Given the description of an element on the screen output the (x, y) to click on. 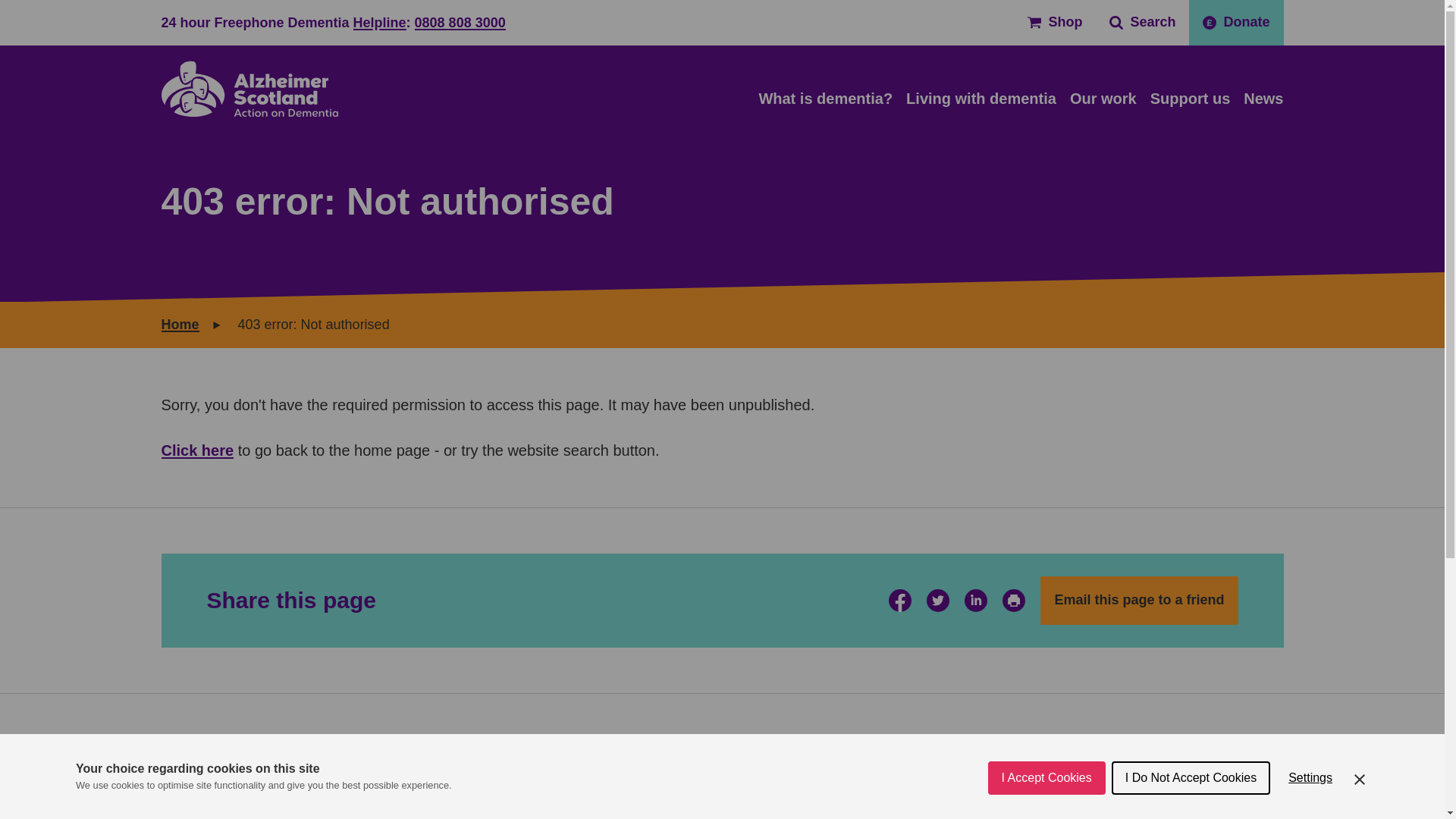
0808 808 3000 (459, 22)
Opens in new window (1112, 750)
I Do Not Accept Cookies (1190, 815)
Living with dementia (981, 98)
Opens in new window (899, 599)
Helpline (379, 22)
Home (248, 88)
Careers (475, 815)
Share on Twitter (937, 599)
What is dementia? (825, 98)
Support us (1190, 98)
Settings (1309, 812)
Opens in new window (1054, 22)
Share on Facebook (899, 599)
